Given the description of an element on the screen output the (x, y) to click on. 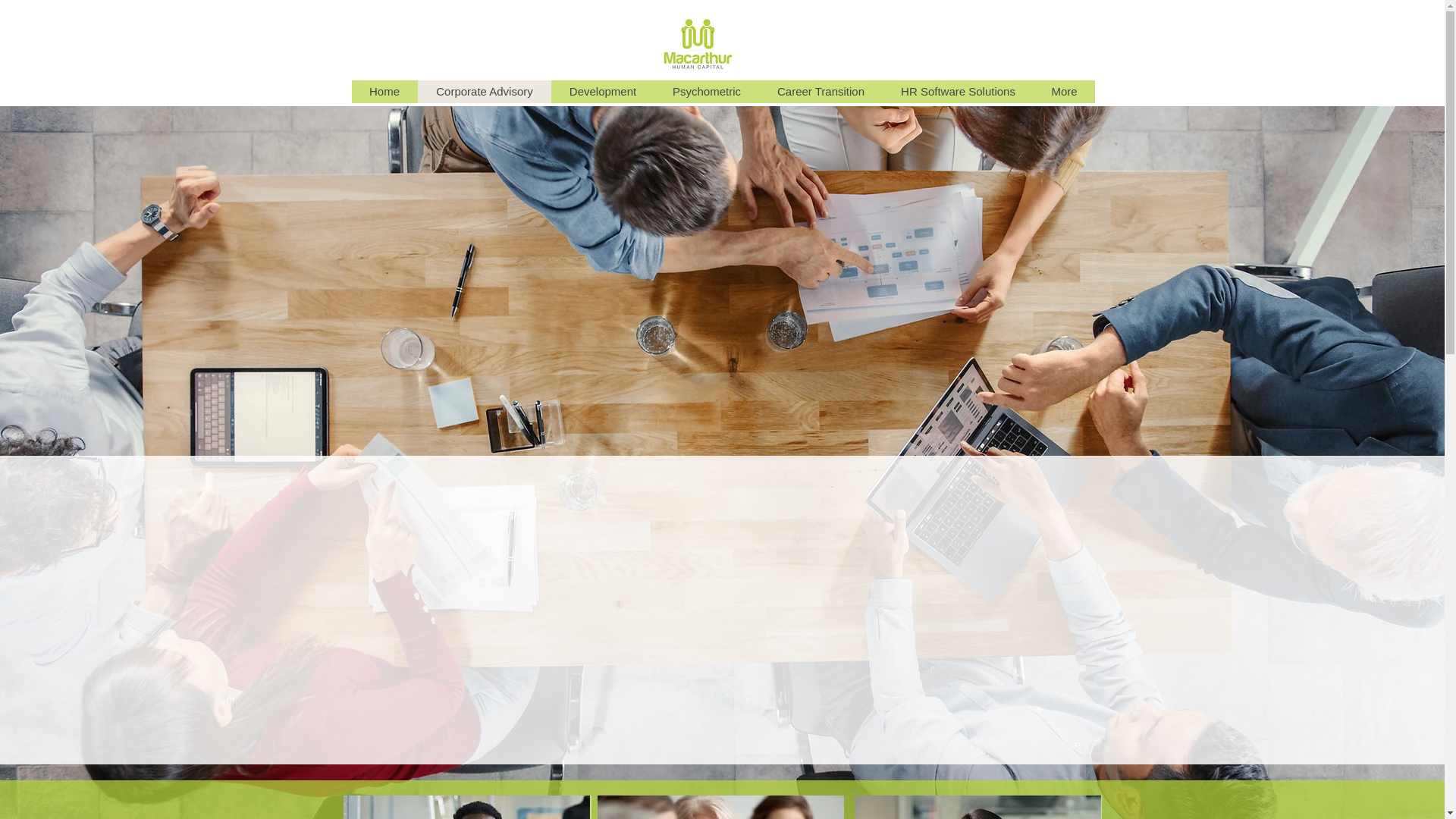
Psychometric Element type: text (705, 91)
Career Transition Element type: text (819, 91)
Home Element type: text (384, 91)
Corporate Advisory Element type: text (483, 91)
Development Element type: text (601, 91)
HR Software Solutions Element type: text (957, 91)
